Given the description of an element on the screen output the (x, y) to click on. 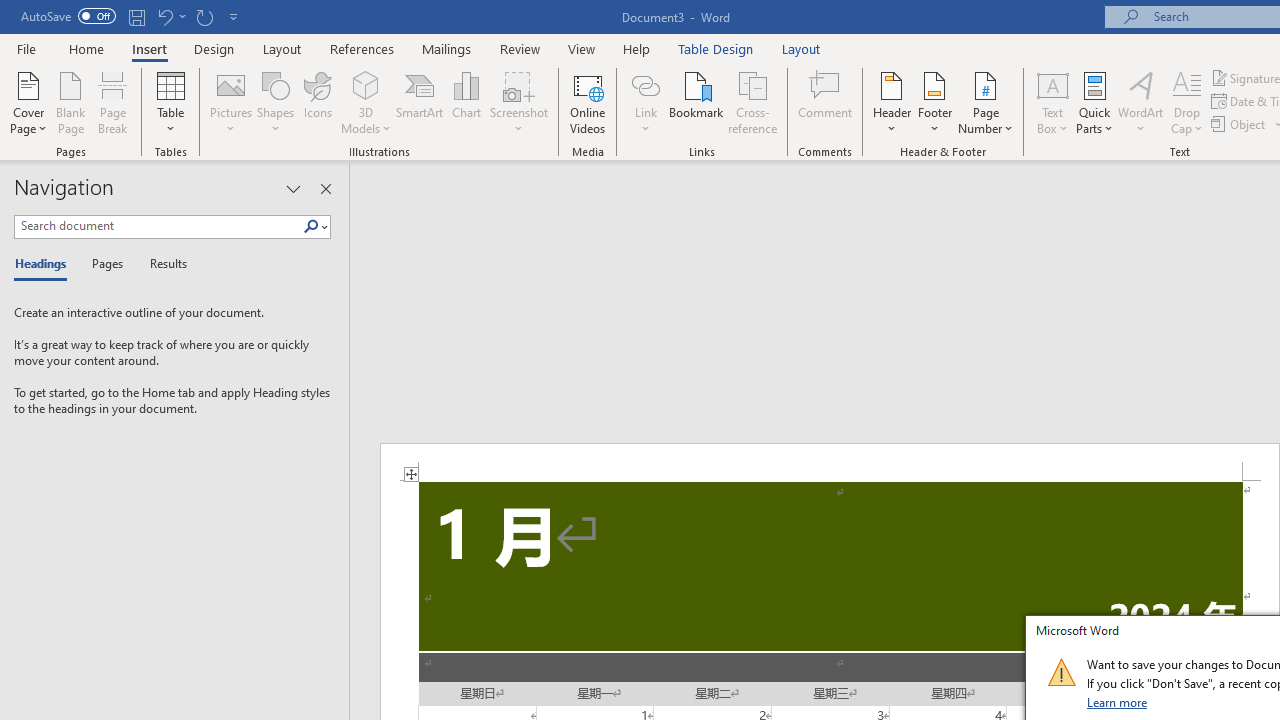
Undo Increase Indent (170, 15)
Home (86, 48)
Headings (45, 264)
Blank Page (70, 102)
Pictures (230, 102)
Undo Increase Indent (164, 15)
Close pane (325, 188)
Quick Parts (1094, 102)
View (582, 48)
Screenshot (518, 102)
Link (645, 84)
Header (891, 102)
Review (520, 48)
